Given the description of an element on the screen output the (x, y) to click on. 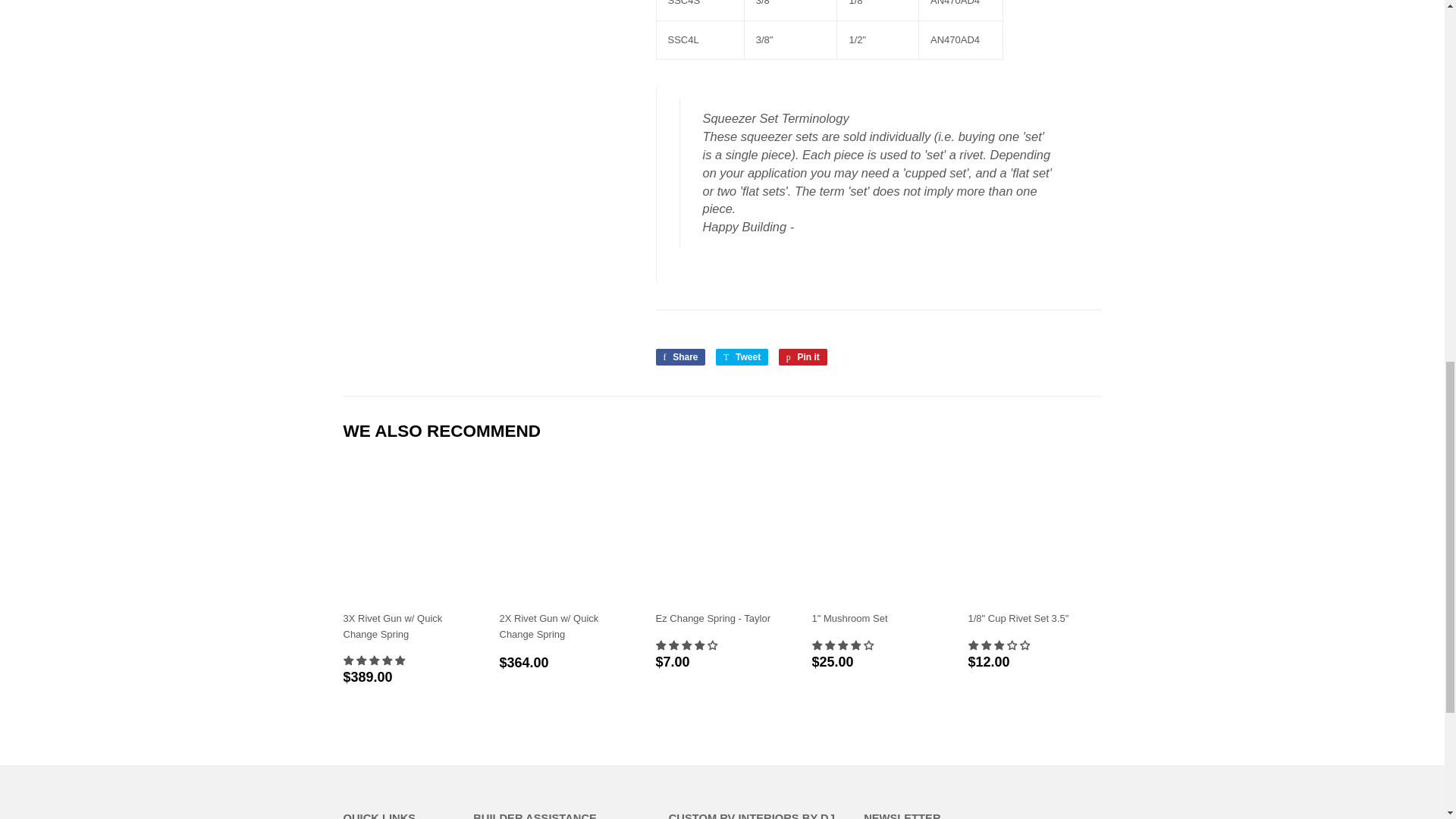
Tweet on Twitter (742, 356)
Pin on Pinterest (802, 356)
Share on Facebook (679, 356)
